Given the description of an element on the screen output the (x, y) to click on. 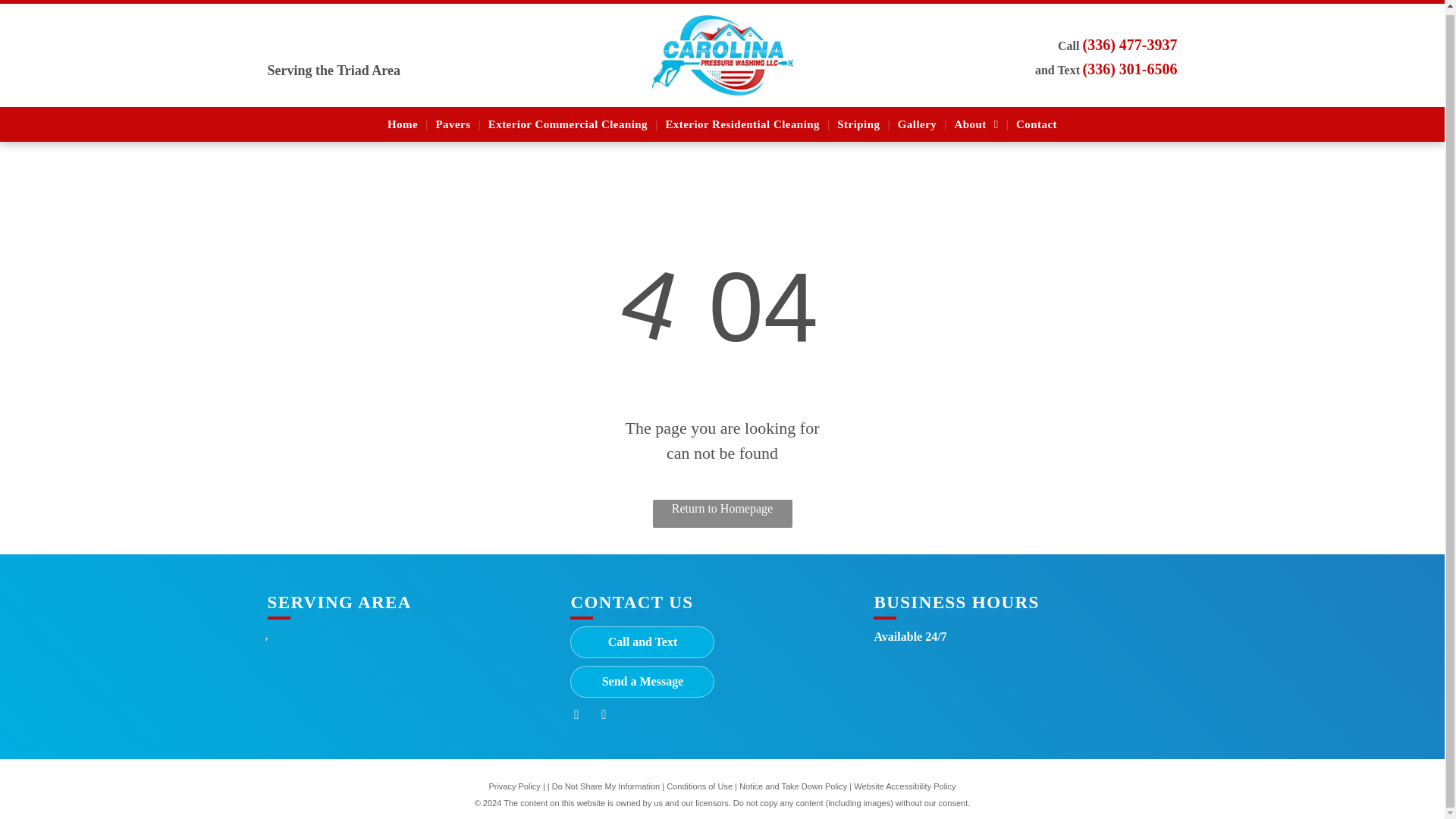
Send a Message (642, 681)
About (976, 120)
Do Not Share My Information (605, 786)
Exterior Residential Cleaning (742, 120)
Website Accessibility Policy (904, 786)
Pavers (452, 120)
Conditions of Use (699, 786)
Notice and Take Down Policy (793, 786)
Return to Homepage (722, 513)
Call and Text (642, 642)
